Given the description of an element on the screen output the (x, y) to click on. 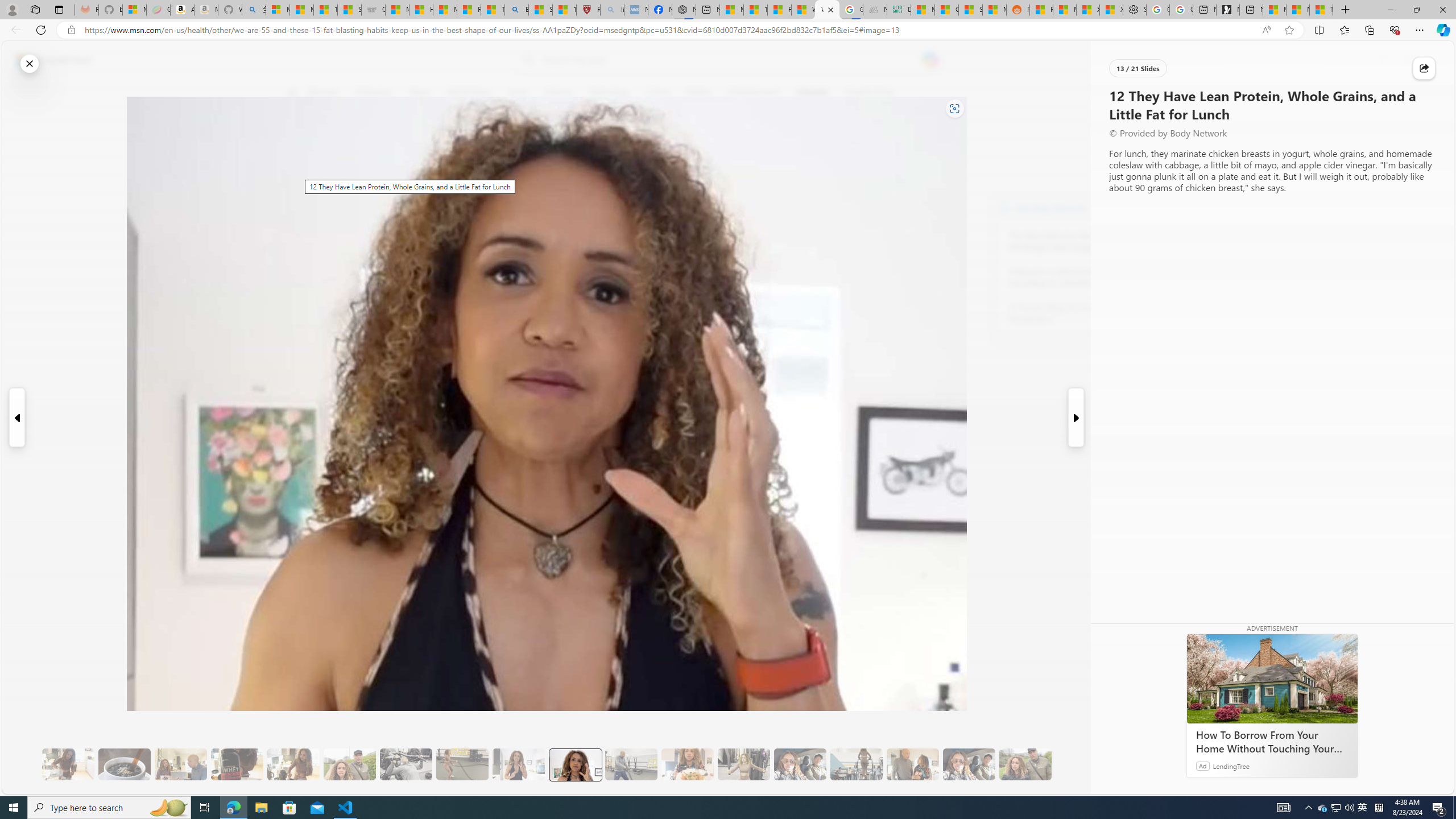
Lifestyle (812, 92)
Entertainment (753, 92)
11 They Eat More Protein for Breakfast (518, 764)
Food & Drink (869, 92)
19 It Also Simplifies Thiings (968, 764)
Previous Slide (16, 417)
Share this story (1423, 67)
8 Be Mindful of Coffee (124, 764)
